Given the description of an element on the screen output the (x, y) to click on. 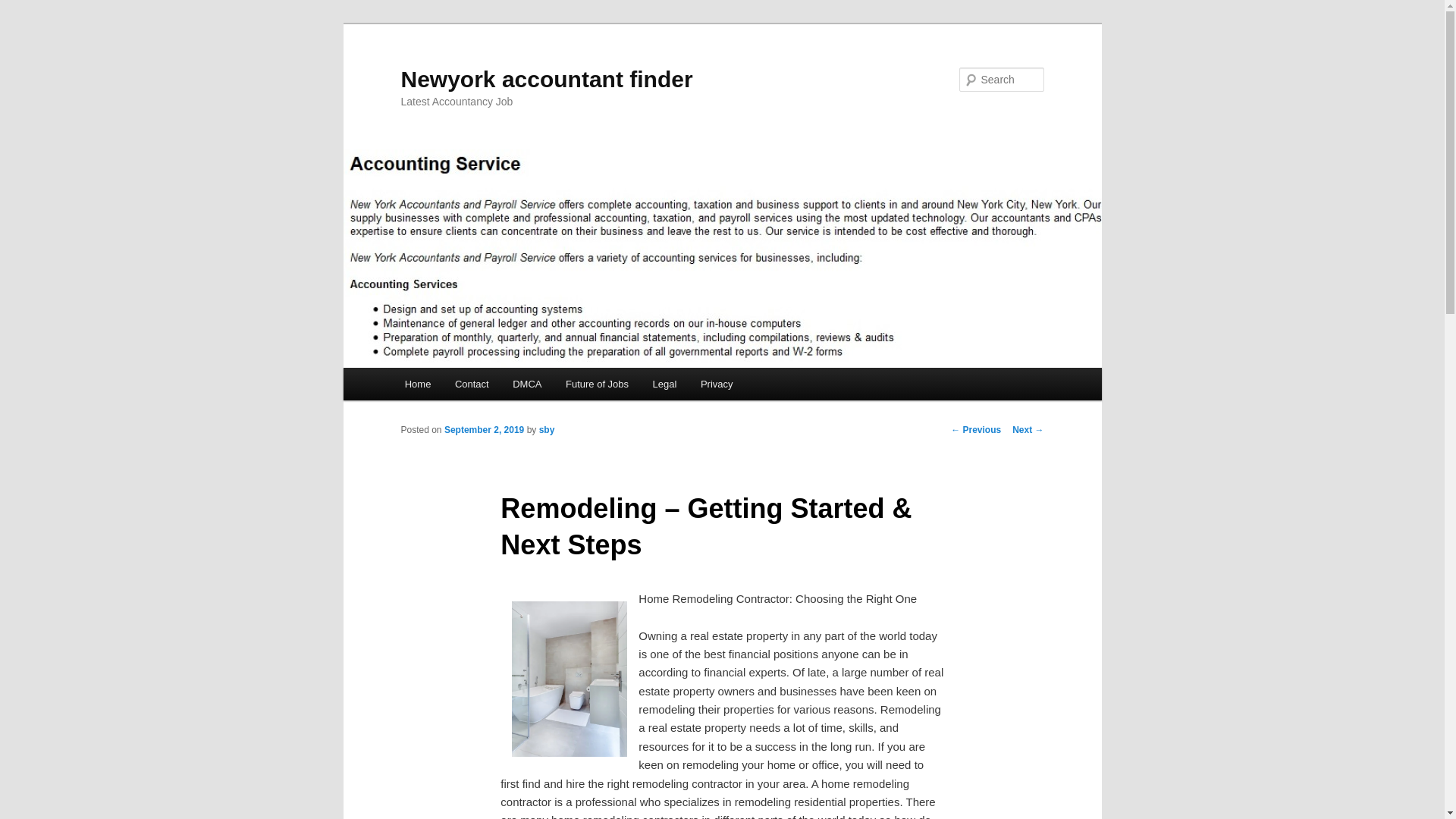
Home (417, 383)
Legal (664, 383)
6:13 pm (484, 429)
Newyork accountant finder (546, 78)
Search (21, 11)
View all posts by sby (546, 429)
Future of Jobs (596, 383)
Privacy (716, 383)
sby (546, 429)
